Given the description of an element on the screen output the (x, y) to click on. 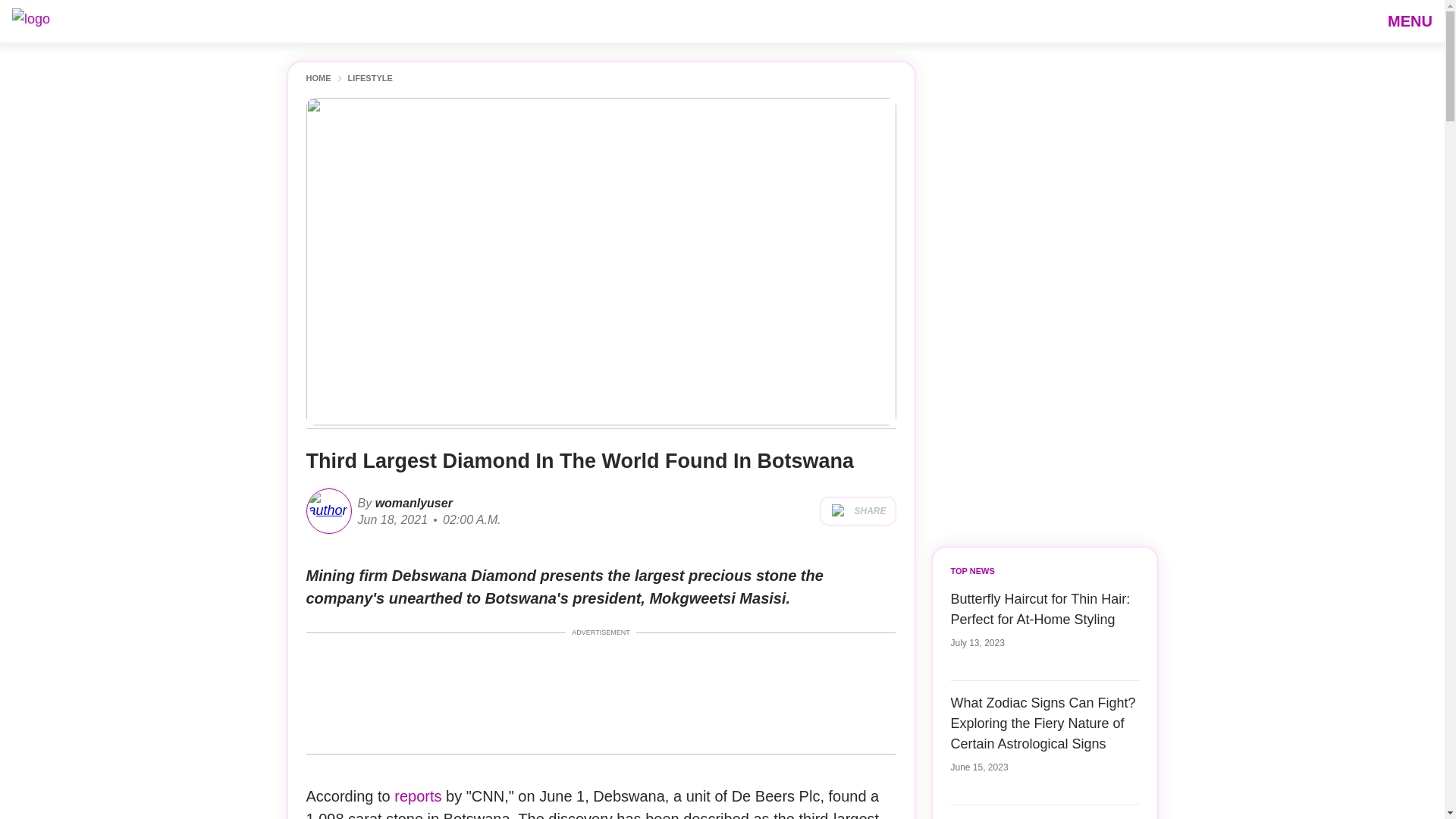
womanlyuser (411, 502)
SHARE (857, 510)
LIFESTYLE (369, 78)
HOME (318, 78)
reports (419, 795)
MENU (1409, 20)
